Given the description of an element on the screen output the (x, y) to click on. 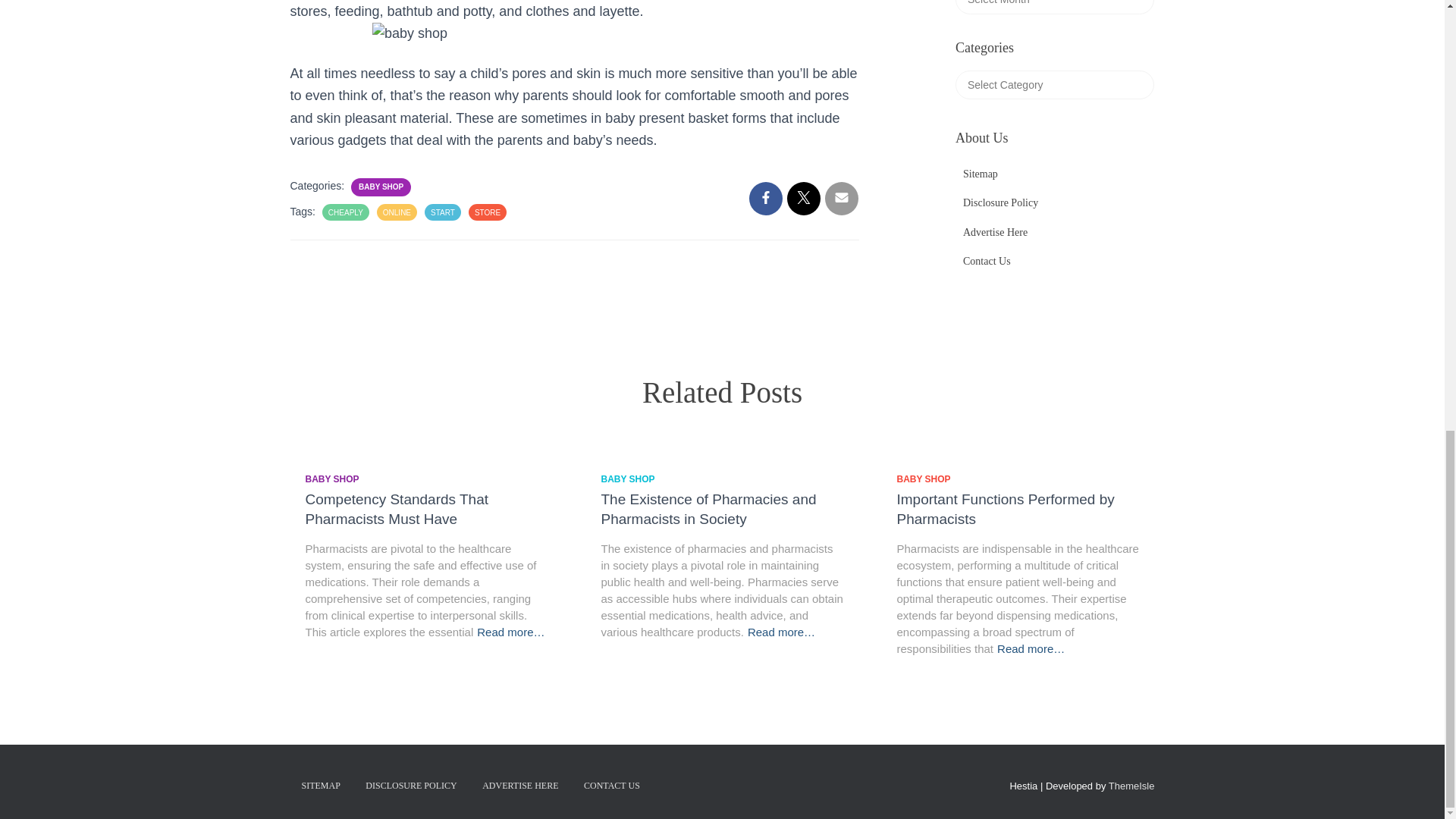
CHEAPLY (345, 212)
STORE (487, 212)
BABY SHOP (380, 186)
ONLINE (396, 212)
START (442, 212)
